Given the description of an element on the screen output the (x, y) to click on. 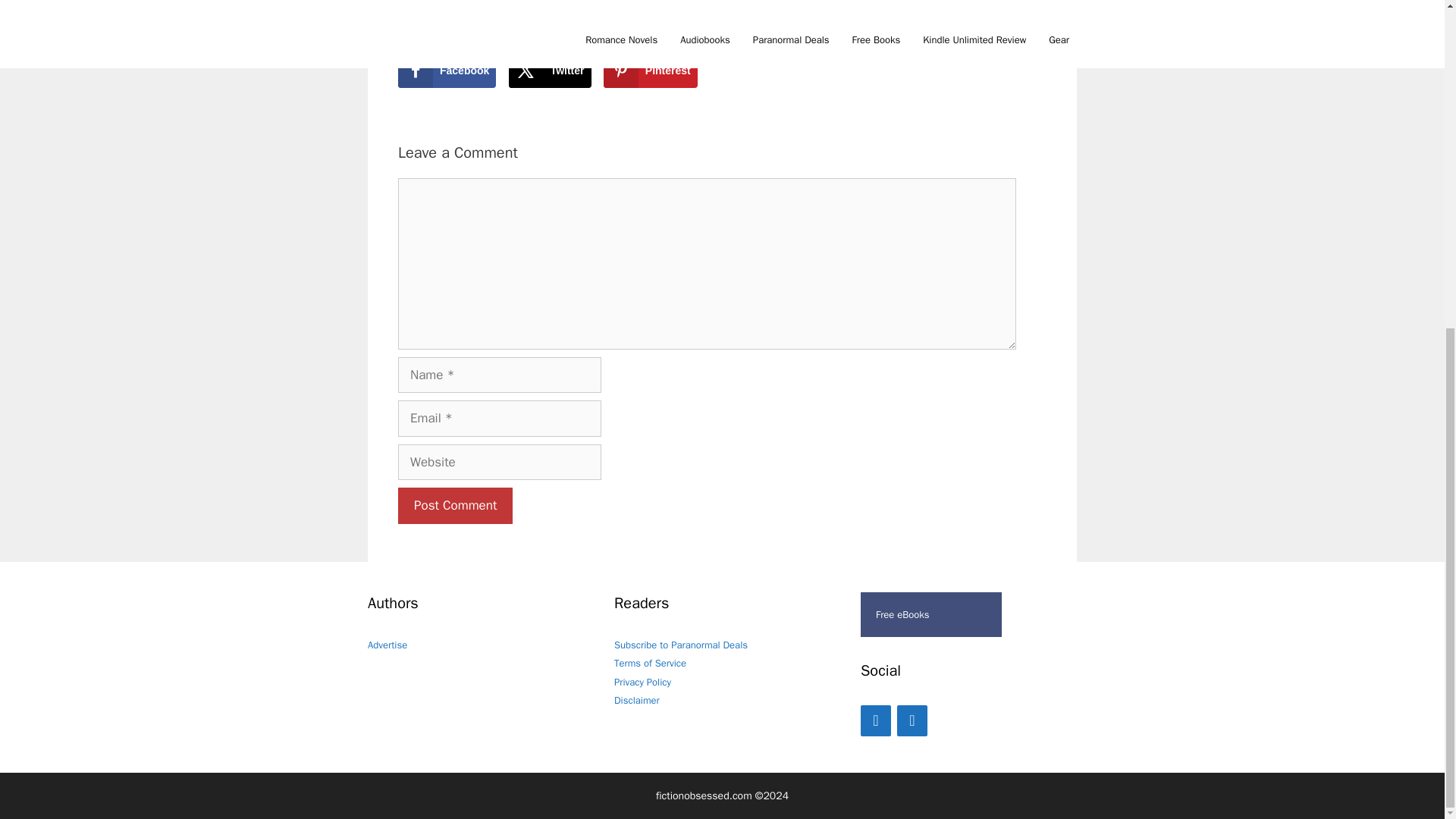
Post Comment (454, 505)
Pinterest (650, 70)
Subscribe to Paranormal Deals (681, 644)
Pinterest (911, 720)
Twitter (549, 70)
Save to Pinterest (650, 70)
Terms of Service (649, 662)
Facebook (875, 720)
Share on X (549, 70)
Post Comment (454, 505)
Share on Facebook (446, 70)
Disclaimer (636, 699)
Free eBooks (930, 615)
Advertise (387, 644)
Privacy Policy (642, 681)
